Given the description of an element on the screen output the (x, y) to click on. 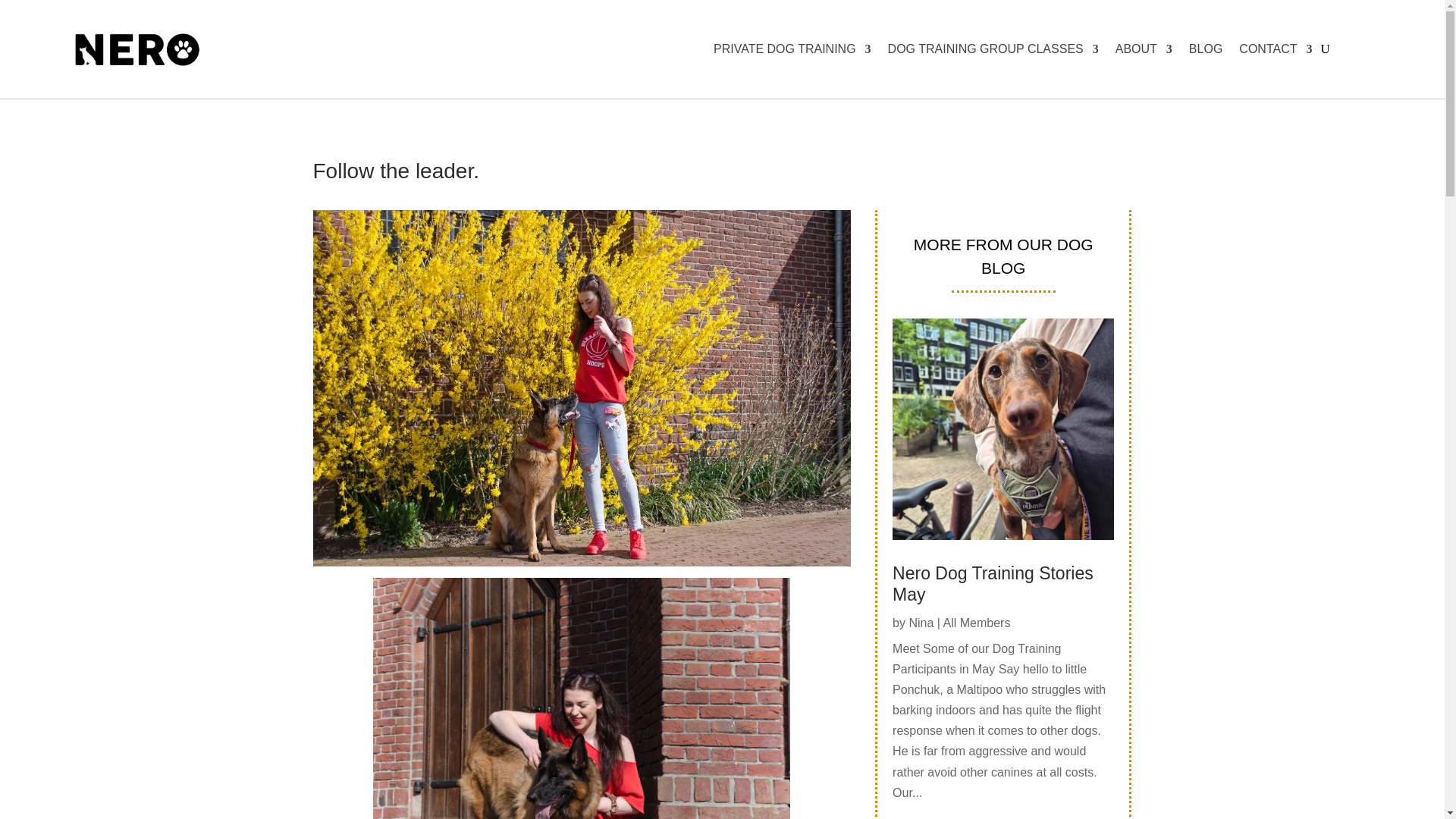
Posts by Nina (920, 622)
ABOUT (1143, 48)
PRIVATE DOG TRAINING (791, 48)
BLOG (1206, 48)
DOG TRAINING GROUP CLASSES (993, 48)
CONTACT (1275, 48)
